Given the description of an element on the screen output the (x, y) to click on. 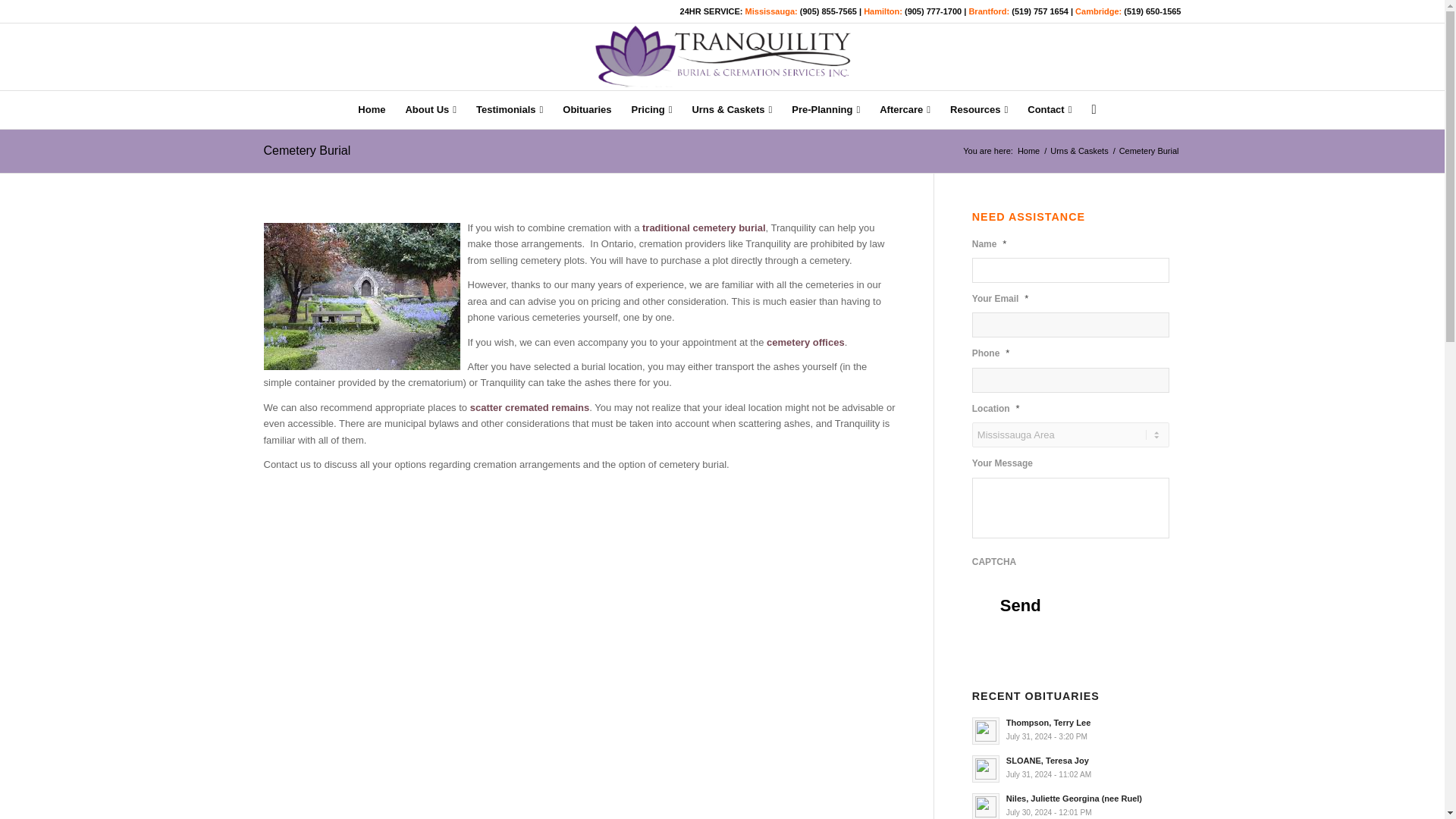
SLOANE, Teresa Joy (1076, 767)
Tranquility Cremation (1028, 151)
Home (370, 109)
Send (1021, 605)
Testimonials (509, 109)
Permanent Link: Cemetery Burial (306, 150)
cemetary-burial (361, 296)
Pricing (651, 109)
About Us (429, 109)
Thompson, Terry Lee (1076, 729)
Obituaries (587, 109)
